Given the description of an element on the screen output the (x, y) to click on. 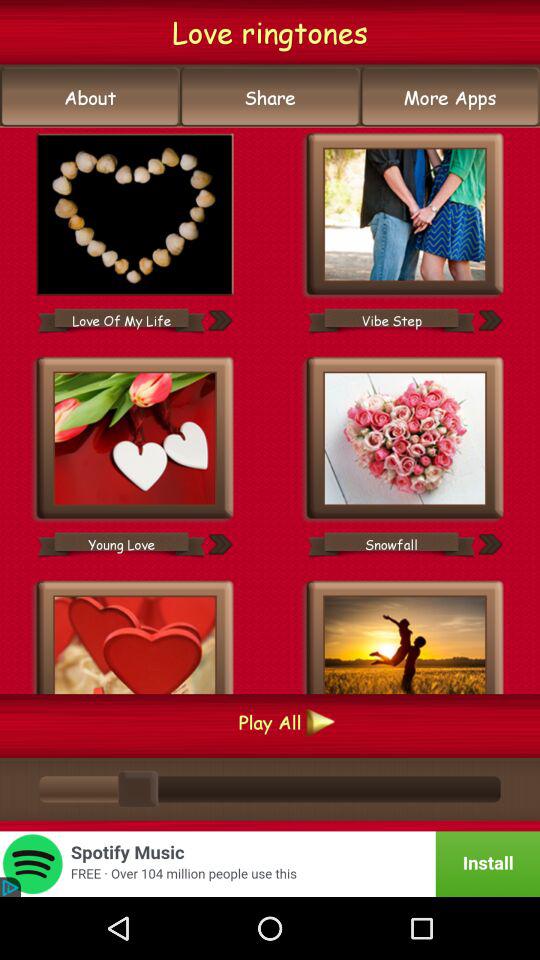
click app below the love ringtones icon (450, 97)
